Given the description of an element on the screen output the (x, y) to click on. 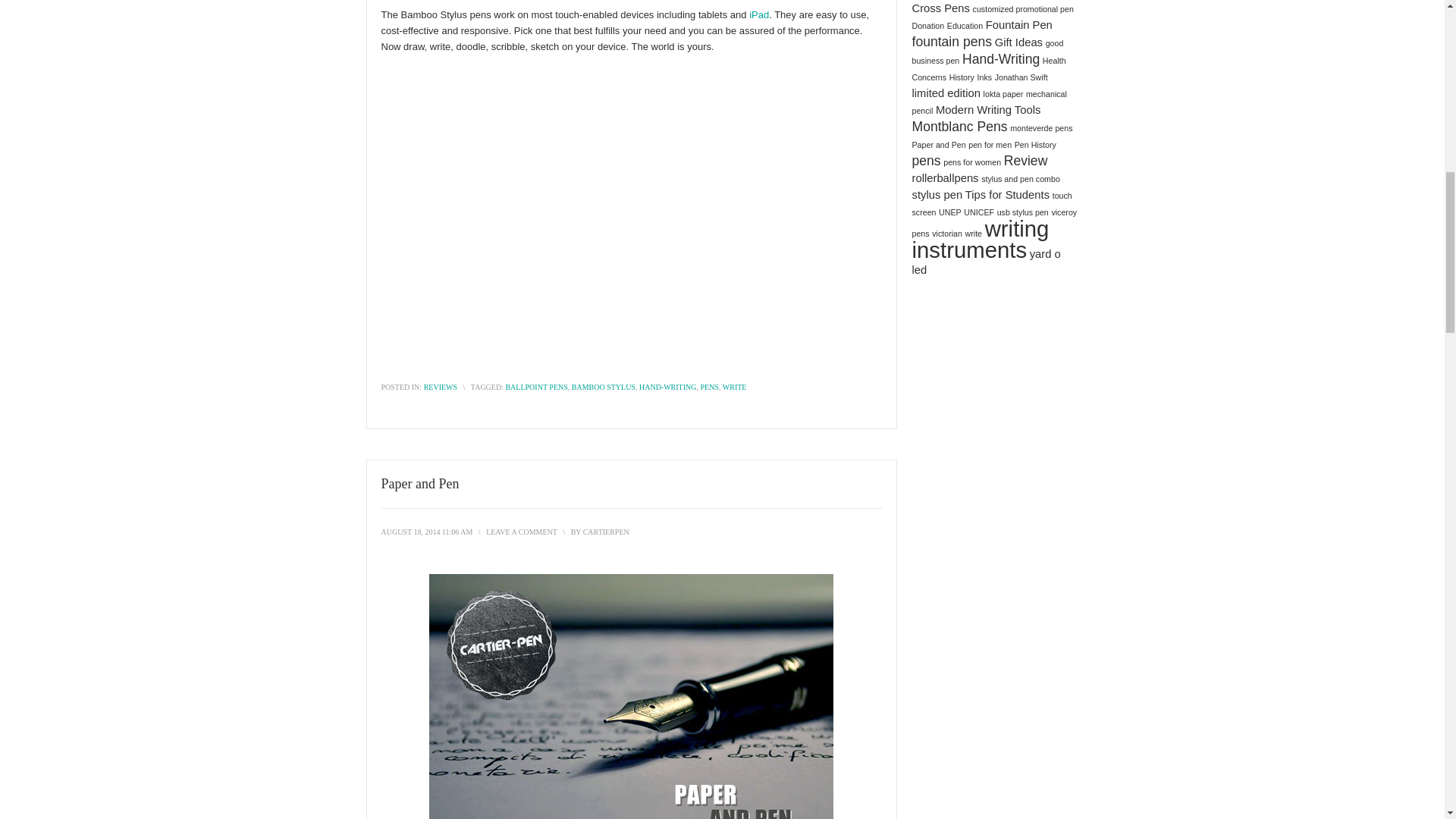
What a little device an is amazing. (758, 14)
by cartierpen (605, 531)
CARTIERPEN (605, 531)
Permalink to Paper and Pen (419, 483)
iPad (758, 14)
REVIEWS (440, 387)
BALLPOINT PENS (536, 387)
AUGUST 18, 2014 11:06 AM (425, 531)
WRITE (734, 387)
Paper and Pen (425, 531)
PENS (709, 387)
LEAVE A COMMENT (521, 531)
BAMBOO STYLUS (603, 387)
HAND-WRITING (668, 387)
Paper and Pen (419, 483)
